Given the description of an element on the screen output the (x, y) to click on. 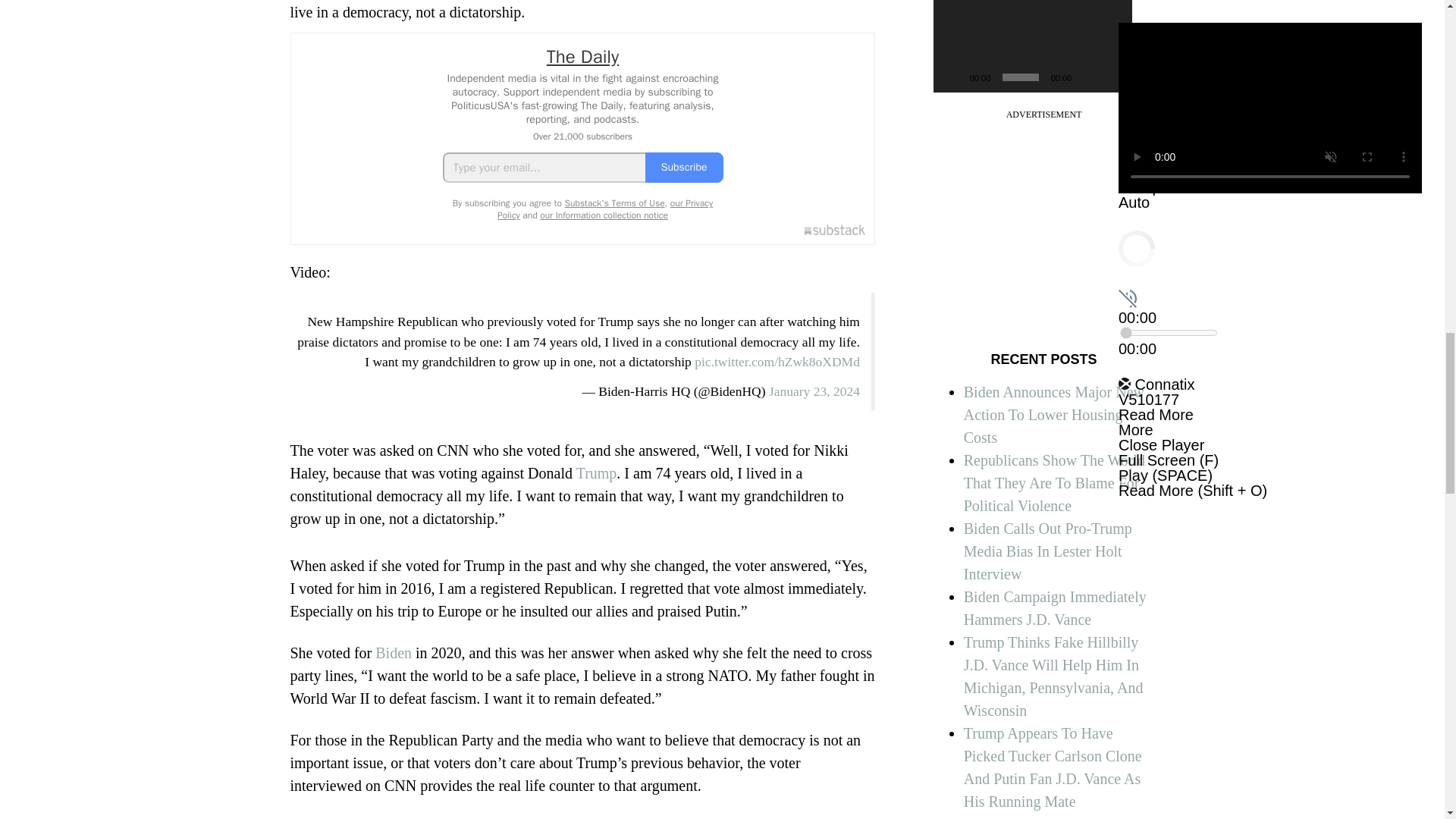
January 23, 2024 (814, 391)
Biden (393, 652)
Trump (596, 473)
Biden (393, 652)
Trump (596, 473)
